Given the description of an element on the screen output the (x, y) to click on. 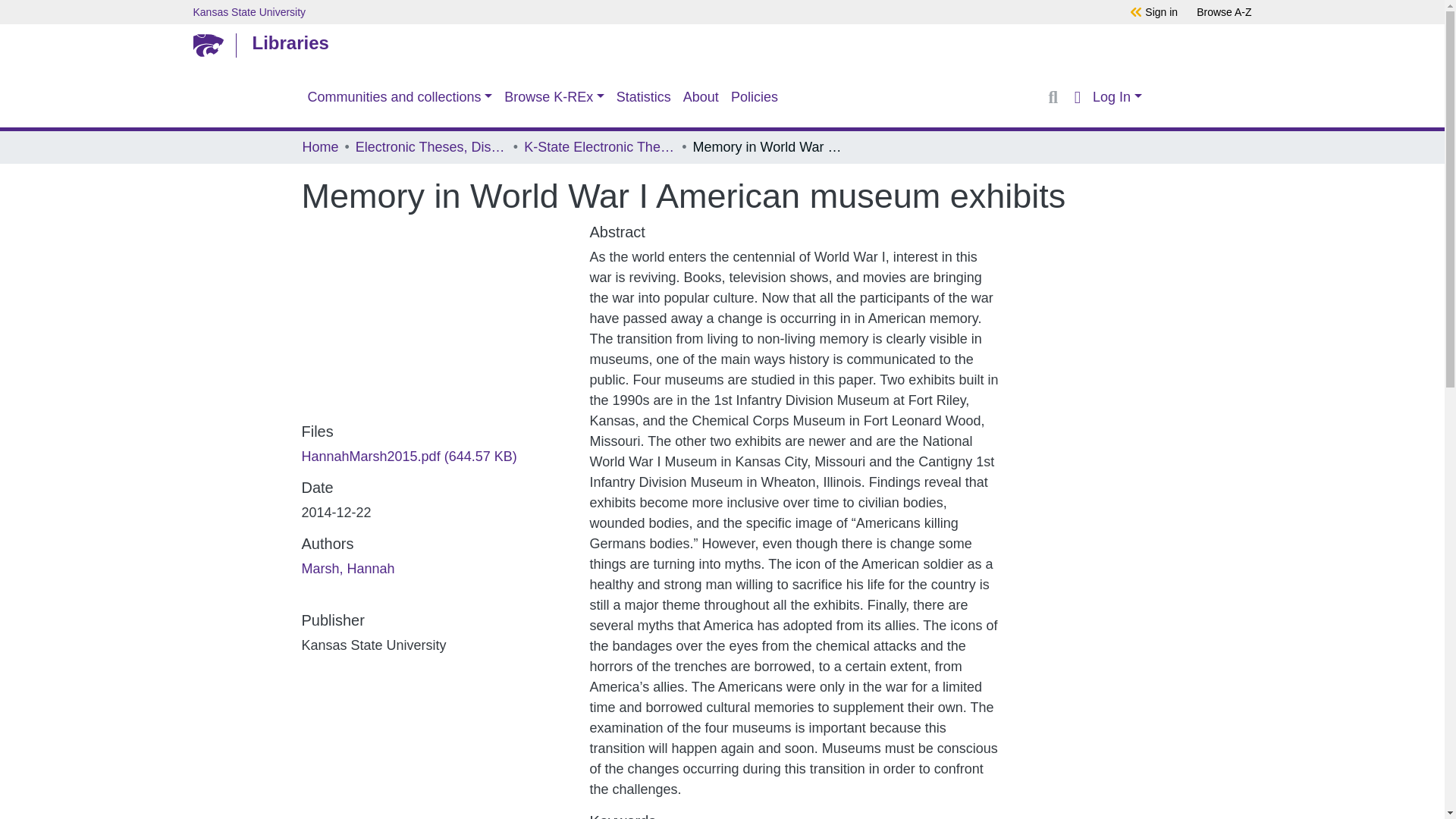
Search (1053, 96)
Log In (1116, 96)
Policies (754, 97)
Communities and collections (400, 97)
Browse K-REx (553, 97)
Language switch (1077, 96)
About (701, 97)
Statistics (643, 97)
Statistics (643, 97)
